Given the description of an element on the screen output the (x, y) to click on. 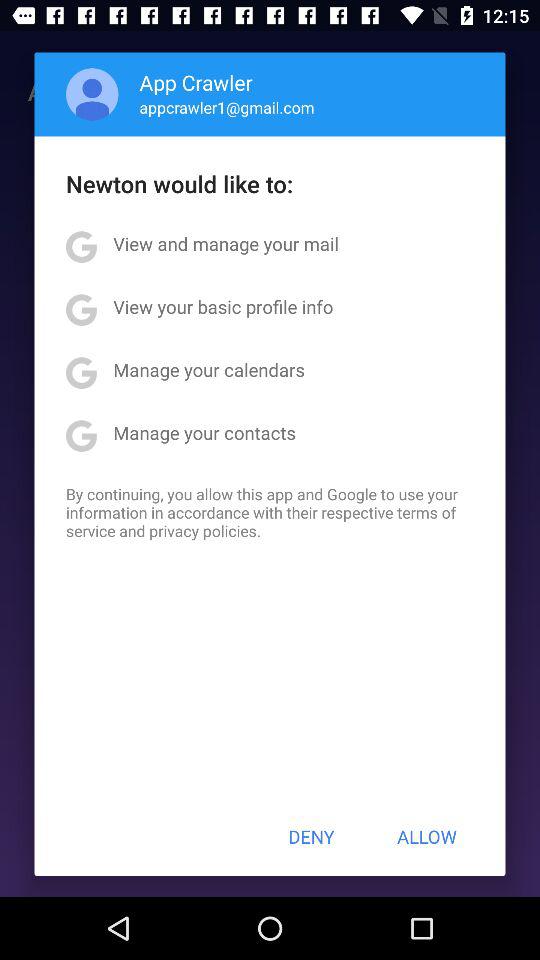
scroll until the view and manage icon (225, 243)
